Given the description of an element on the screen output the (x, y) to click on. 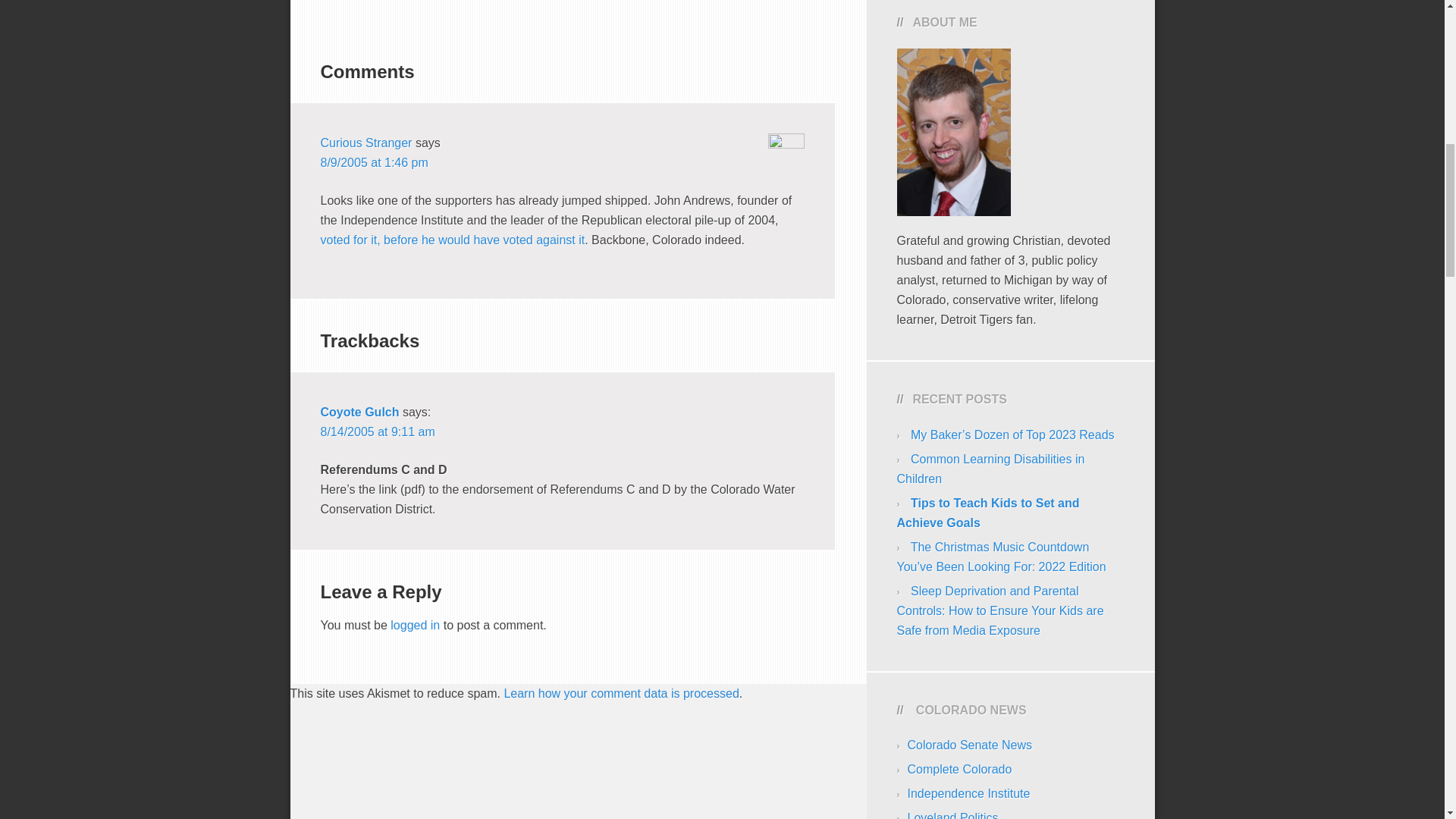
logged in (414, 625)
Learn how your comment data is processed (620, 693)
Coyote Gulch (359, 411)
Curious Stranger (366, 142)
voted for it, before he would have voted against it (452, 239)
